Given the description of an element on the screen output the (x, y) to click on. 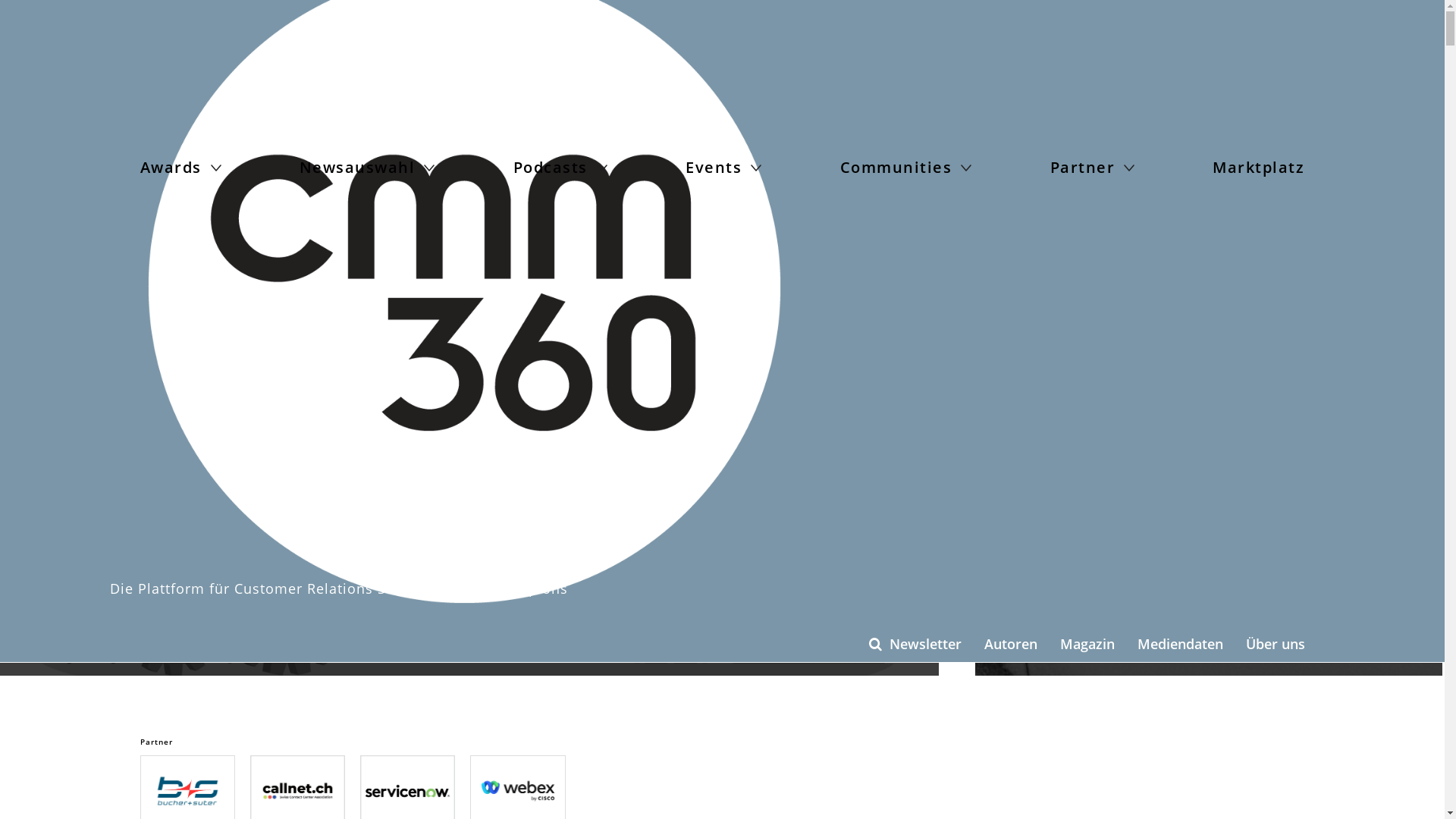
Next Element type: text (915, 432)
Awards Element type: text (183, 167)
Partner Element type: text (1096, 167)
Podcasts Element type: text (563, 167)
Mediendaten Element type: text (1179, 644)
Magazin Element type: text (1087, 644)
Newsauswahl Element type: text (370, 167)
Newsletter Element type: text (924, 644)
revDSG und der aktuelle Stand Element type: text (159, 647)
Autoren Element type: text (1010, 644)
Previous Element type: text (22, 432)
Events Element type: text (726, 167)
Marktplatz Element type: text (1258, 167)
Communities Element type: text (909, 167)
